Given the description of an element on the screen output the (x, y) to click on. 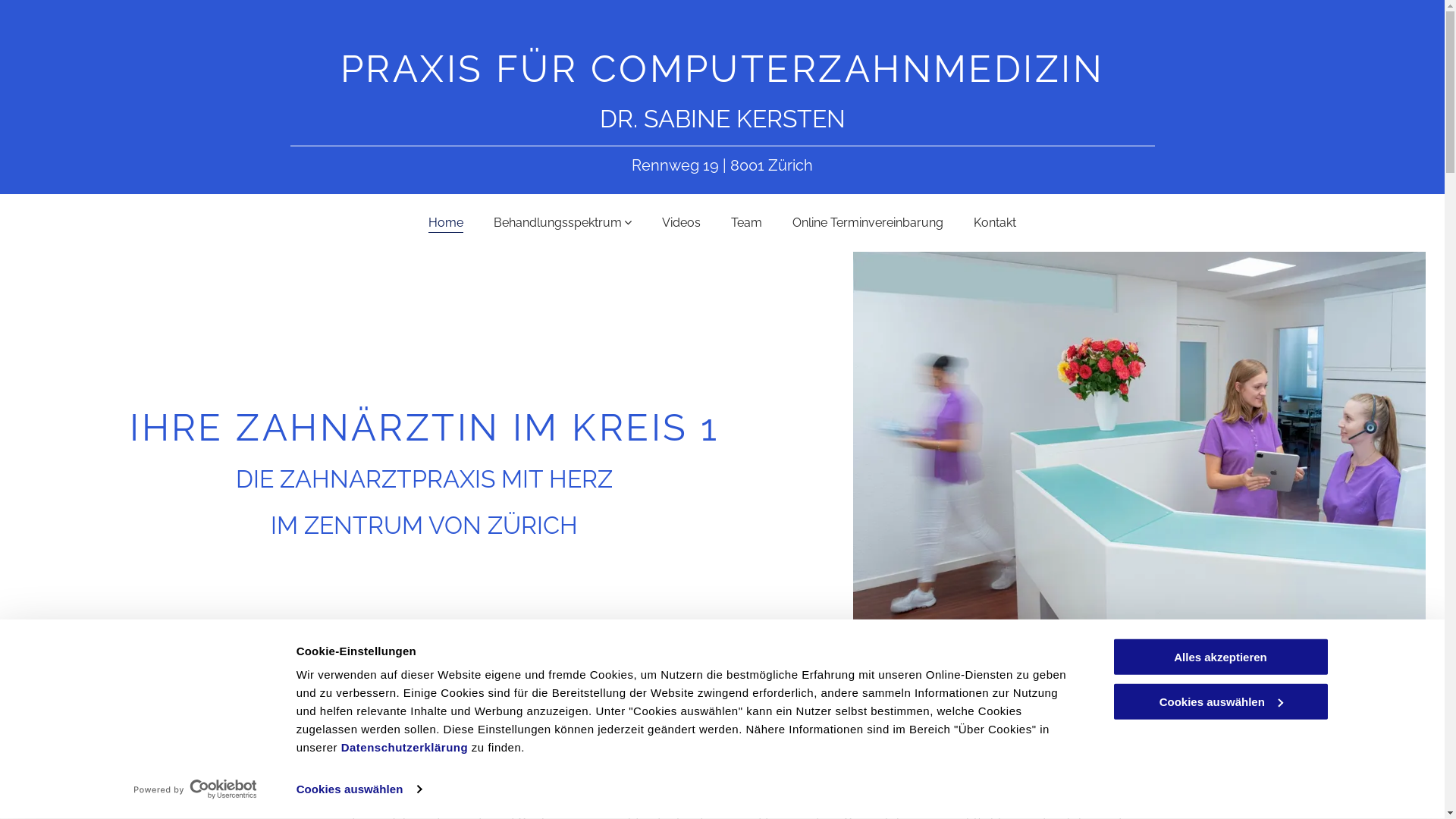
Alles akzeptieren Element type: text (1219, 656)
Team Element type: text (746, 221)
Kontakt Element type: text (994, 221)
Online Terminvereinbarung Element type: text (867, 221)
Videos Element type: text (681, 221)
Behandlungsspektrum Element type: text (562, 221)
Home Element type: text (445, 221)
